Given the description of an element on the screen output the (x, y) to click on. 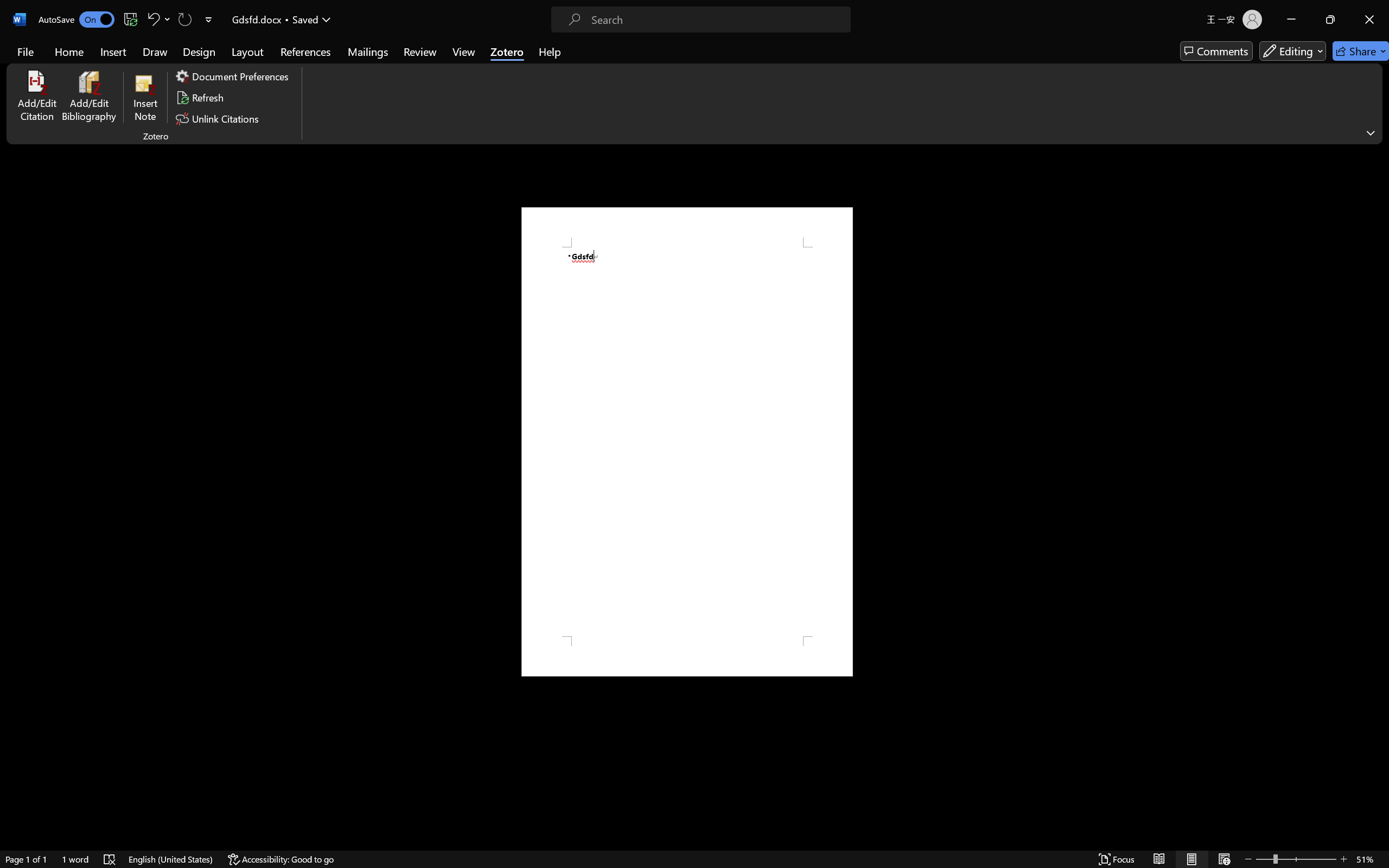
Wheel (417, 60)
Move Earlier (1294, 62)
Animation Styles (1022, 71)
Wipe (328, 60)
Darken (951, 60)
Class: NetUIImage (1022, 72)
